Given the description of an element on the screen output the (x, y) to click on. 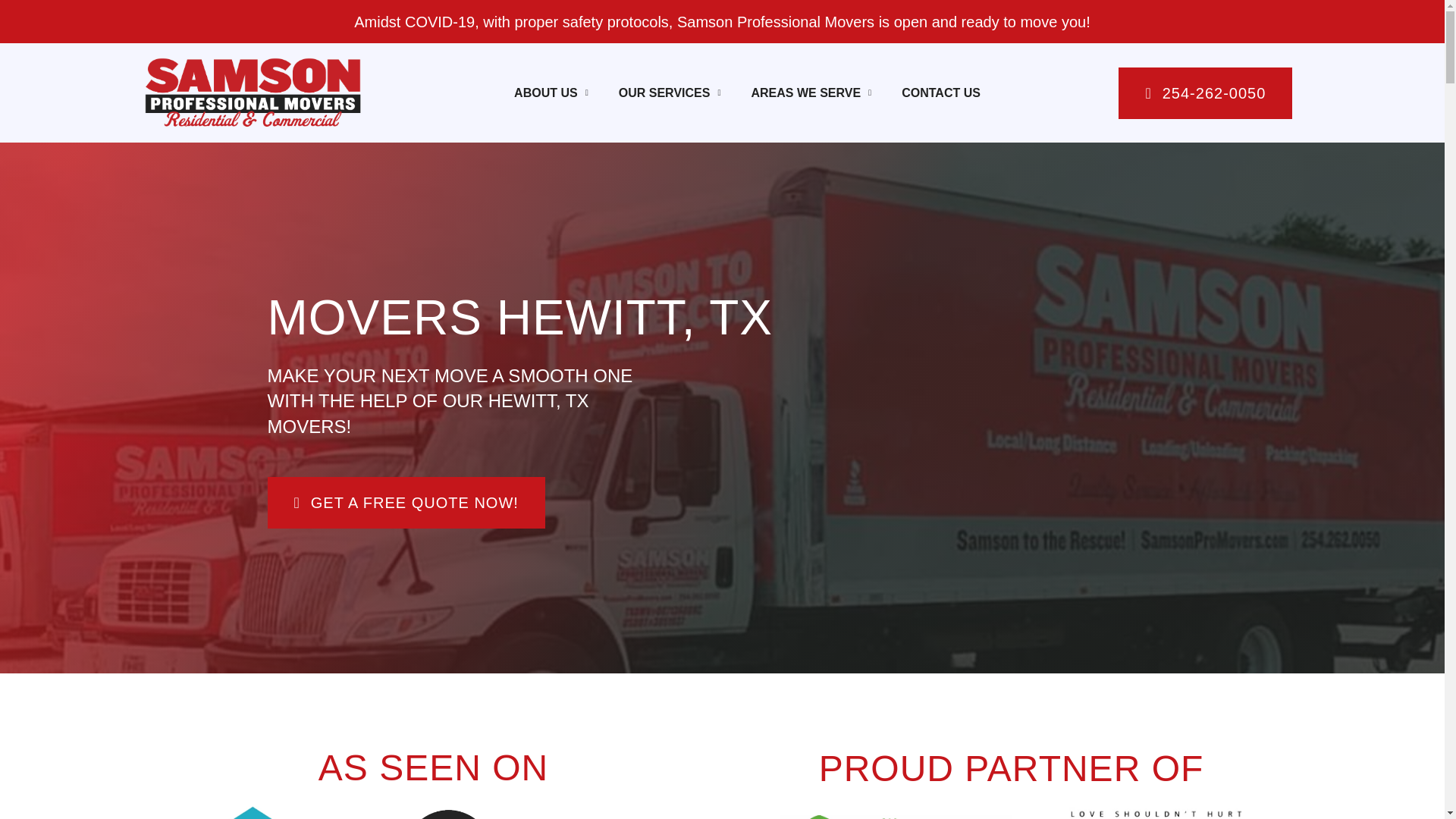
CONTACT US (940, 93)
AREAS WE SERVE (810, 93)
OUR SERVICES (670, 93)
ABOUT US (551, 93)
